Given the description of an element on the screen output the (x, y) to click on. 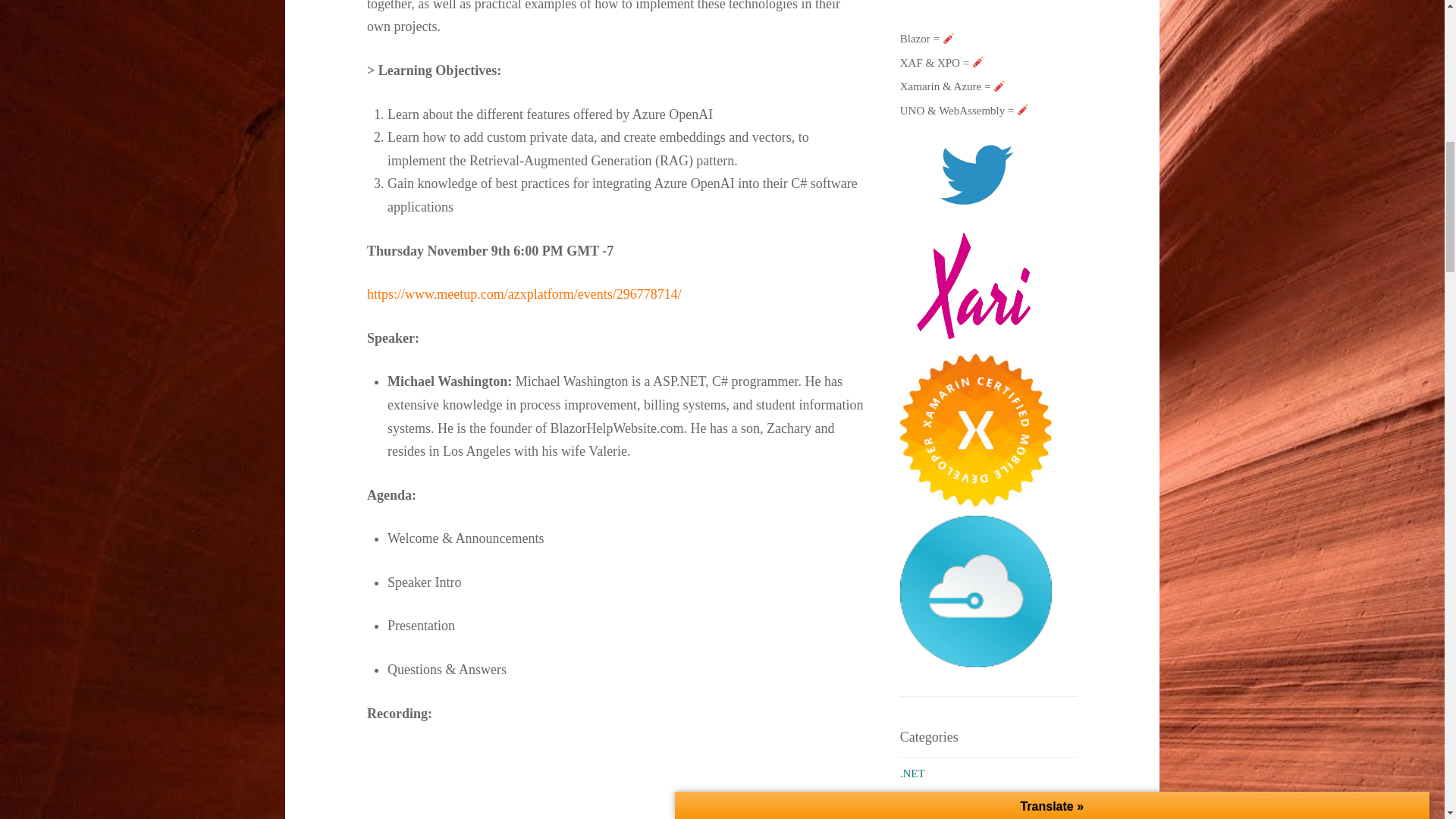
Azure (913, 808)
.NET (911, 773)
YouTube player (615, 782)
